Given the description of an element on the screen output the (x, y) to click on. 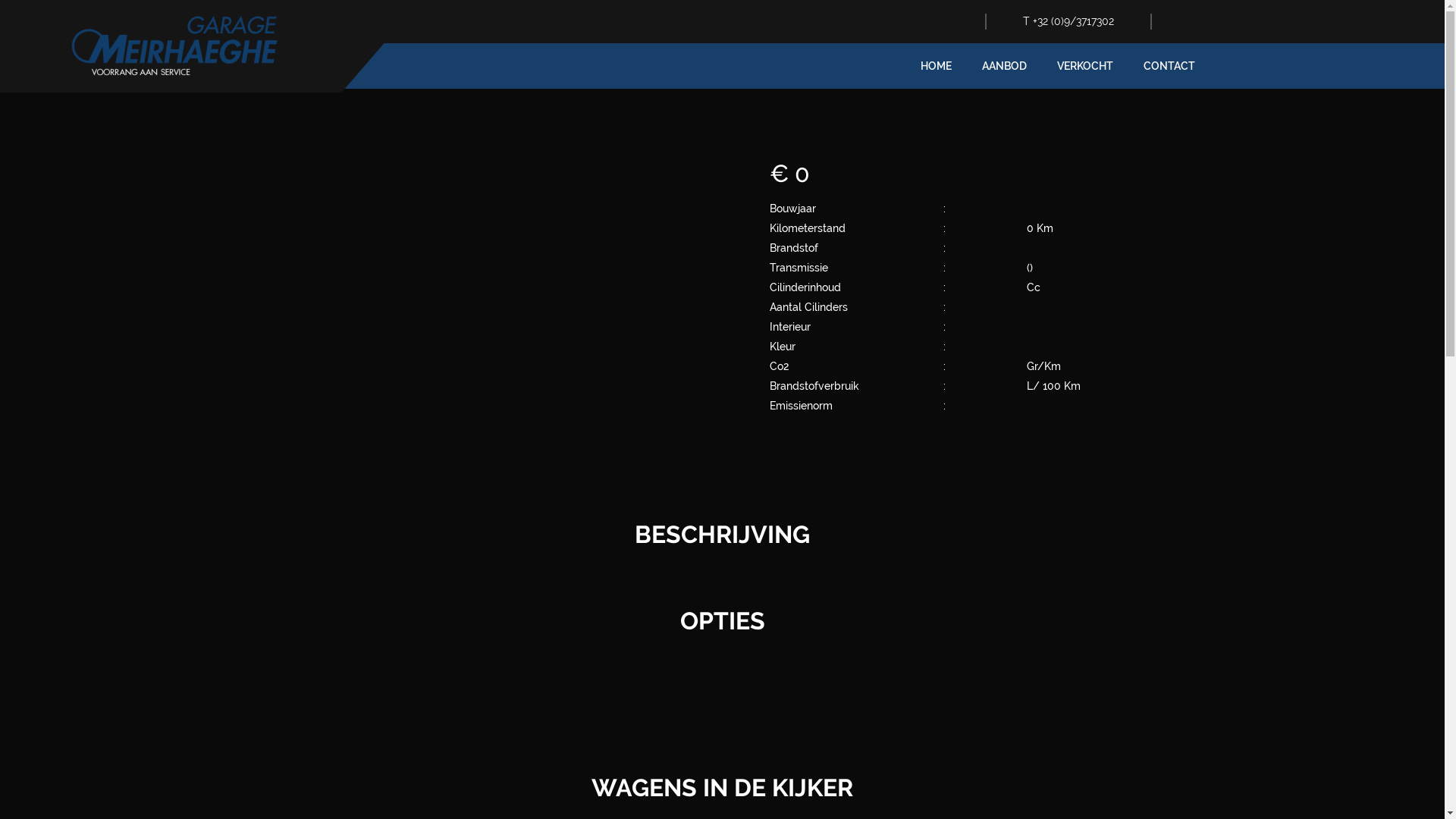
HOME Element type: text (936, 65)
VERKOCHT Element type: text (1084, 65)
T +32 (0)9/3717302 Element type: text (1067, 21)
AANBOD Element type: text (1003, 65)
CONTACT Element type: text (1168, 65)
